Given the description of an element on the screen output the (x, y) to click on. 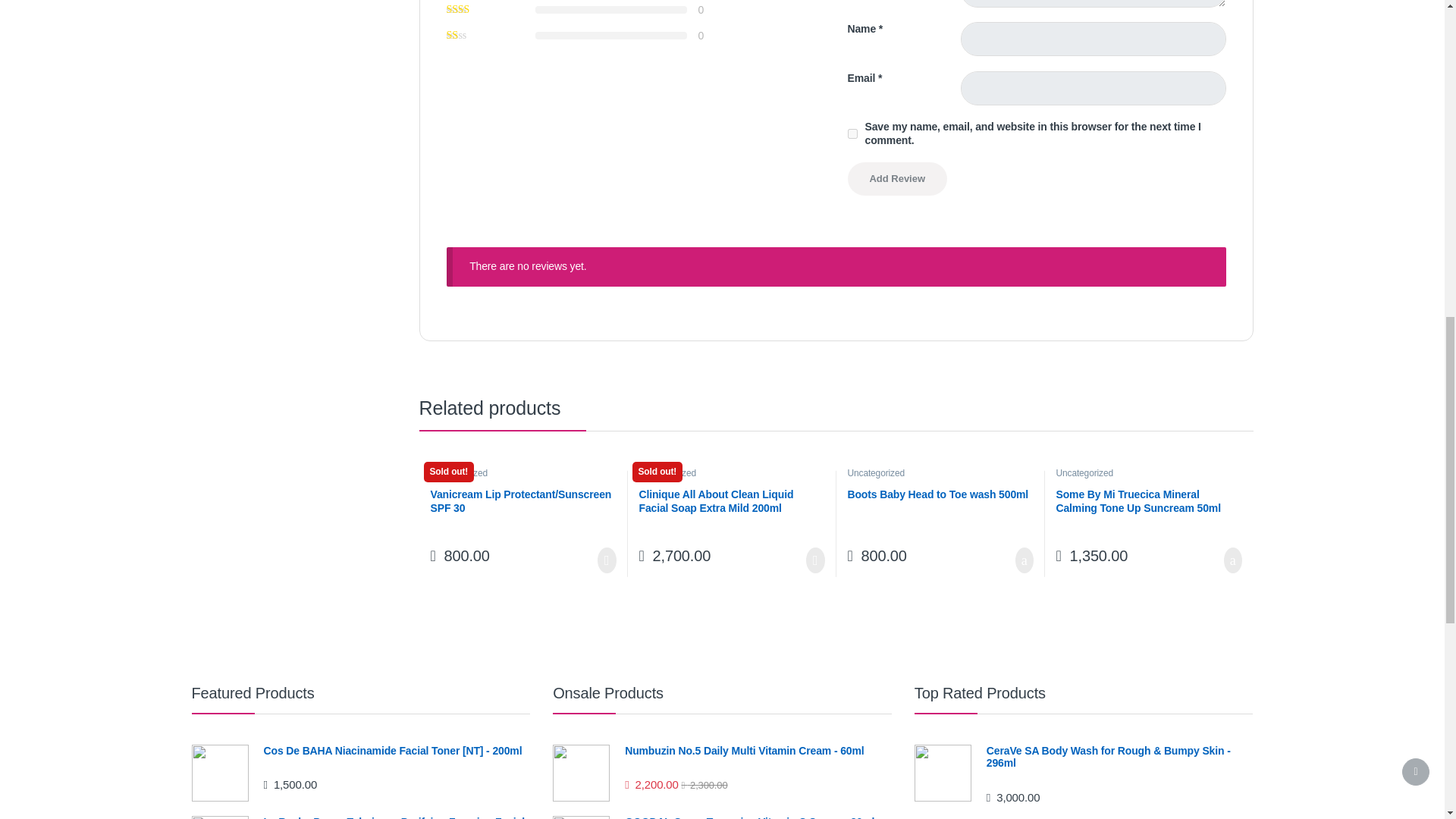
Uncategorized (457, 472)
yes (852, 133)
Add Review (897, 178)
Add Review (897, 178)
